Given the description of an element on the screen output the (x, y) to click on. 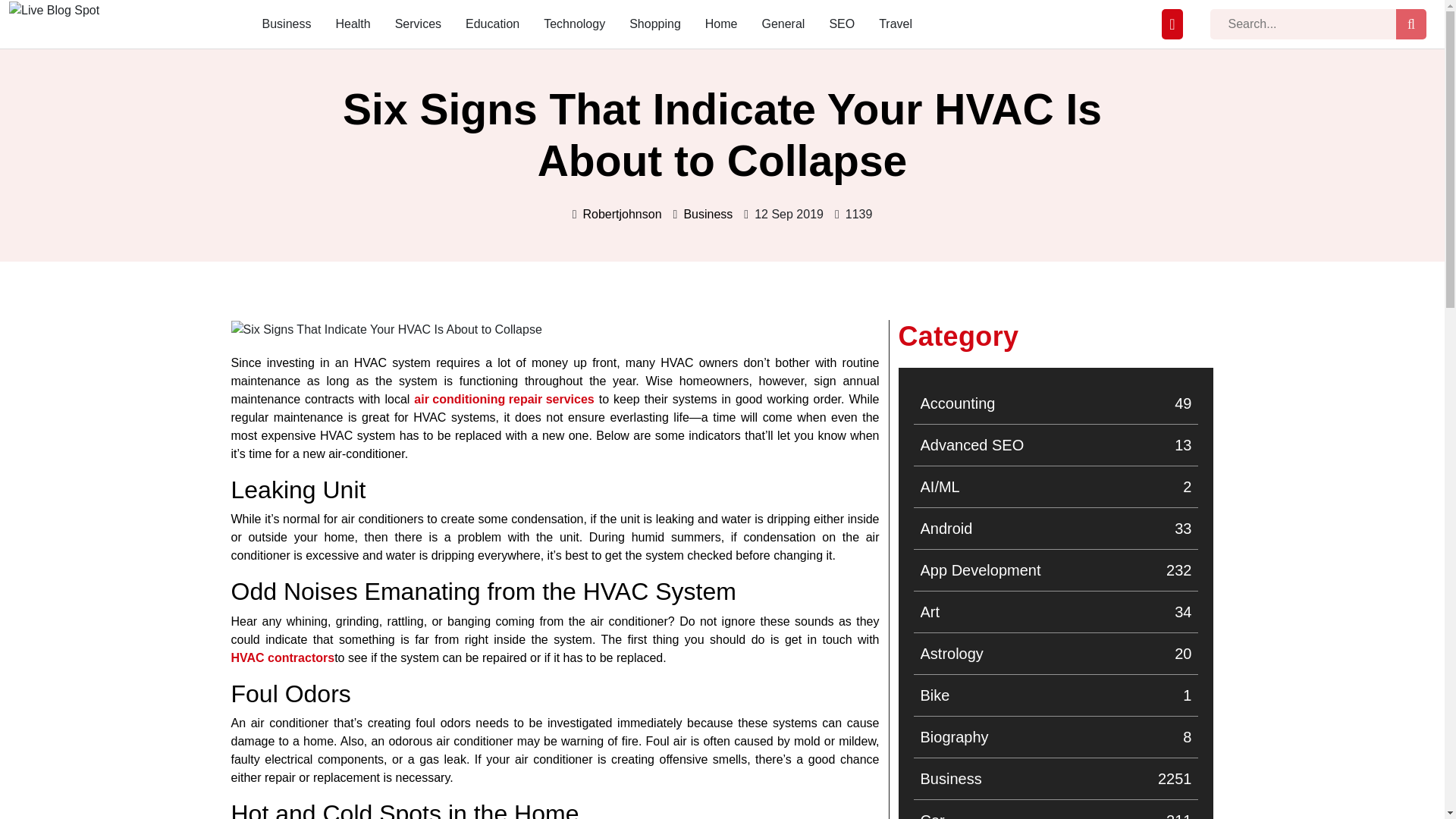
Shopping (654, 24)
Live Blog Spot (62, 30)
Services (417, 24)
Live Blog Spot (53, 30)
Education (492, 24)
Posts by robertjohnson (1056, 778)
Robertjohnson (621, 214)
Business (621, 214)
Six Signs That Indicate Your HVAC Is About to Collapse (286, 24)
